Given the description of an element on the screen output the (x, y) to click on. 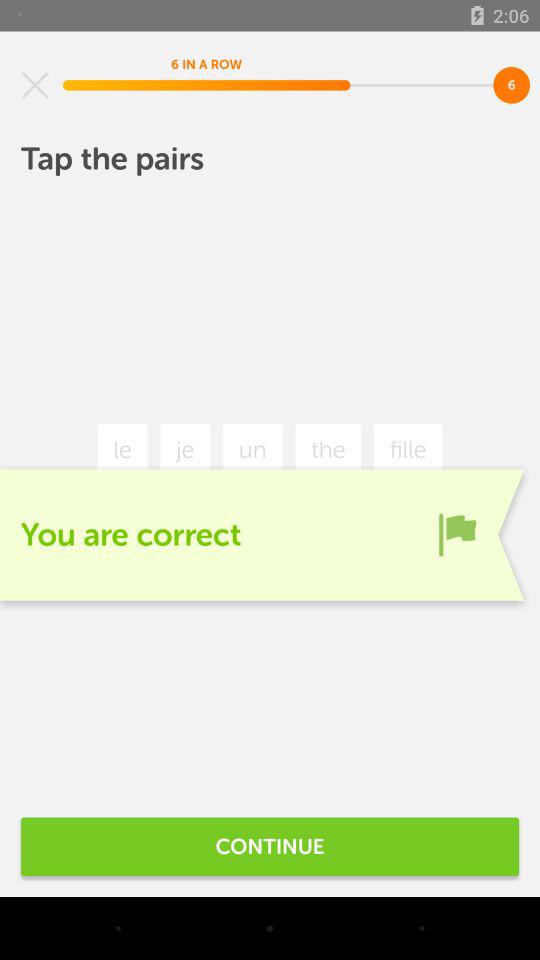
select the item above the tap the pairs icon (35, 85)
